Given the description of an element on the screen output the (x, y) to click on. 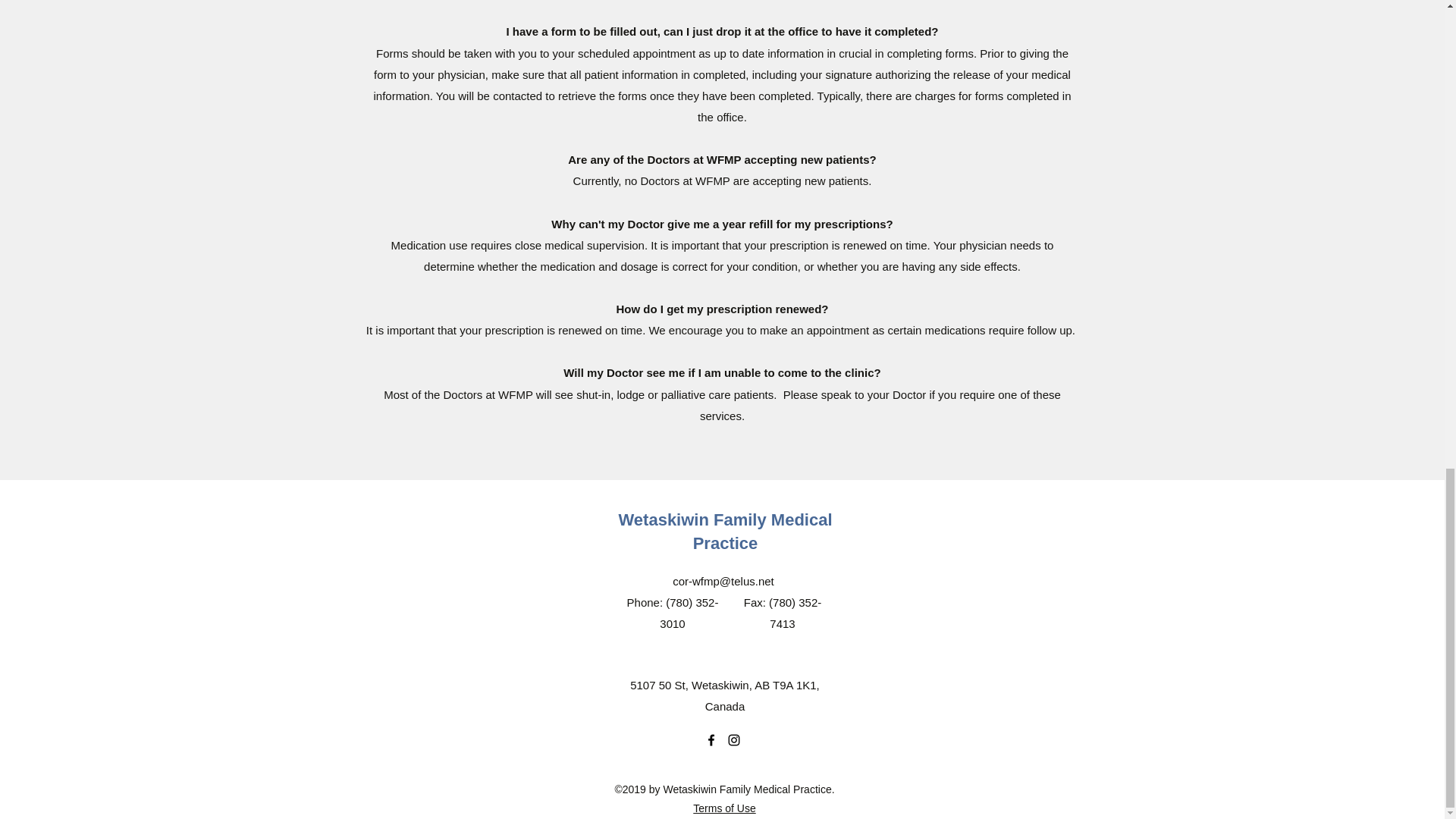
Terms of Use (724, 808)
Wetaskiwin Family Medical Practice (724, 531)
